Given the description of an element on the screen output the (x, y) to click on. 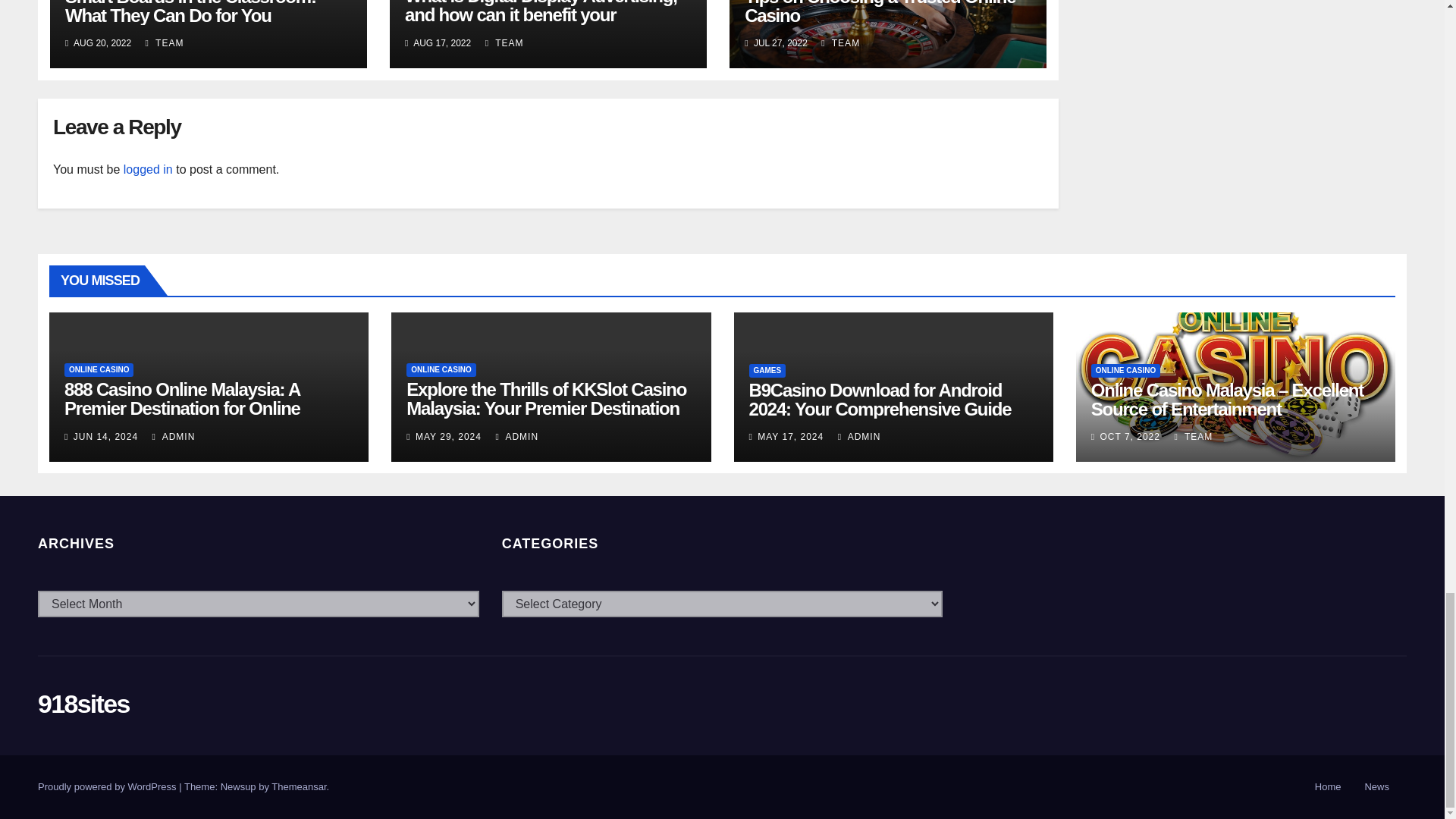
Permalink to: Tips on Choosing a Trusted Online Casino (879, 12)
TEAM (504, 42)
Smart Boards in the Classroom: What They Can Do for You (190, 12)
TEAM (164, 42)
Home (1328, 786)
